Given the description of an element on the screen output the (x, y) to click on. 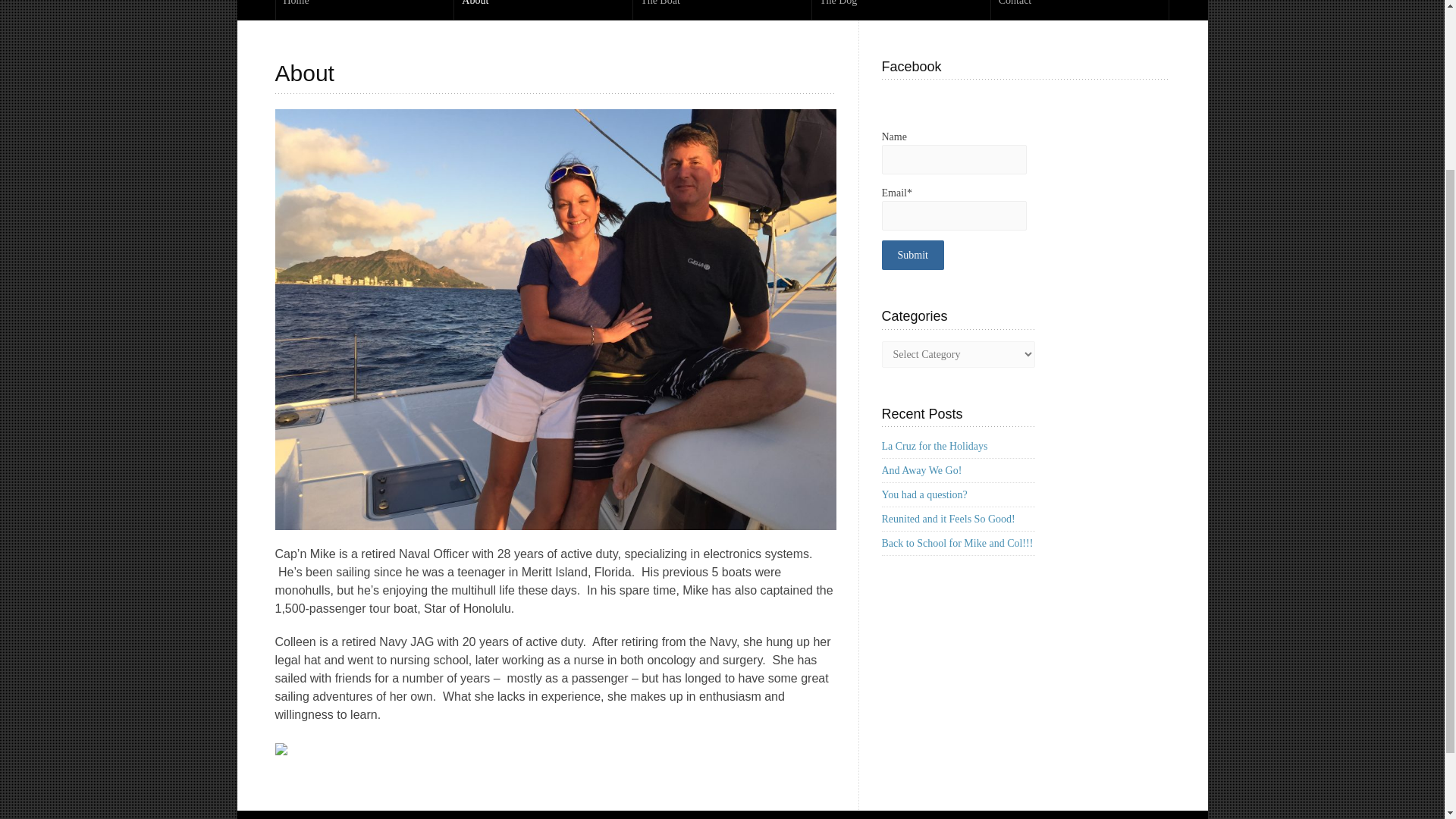
Submit (911, 255)
About (542, 9)
You had a question? (923, 494)
Home (365, 9)
Contact (1080, 9)
The Boat (721, 9)
Submit (911, 255)
The Dog (901, 9)
Back to School for Mike and Col!!! (956, 542)
Reunited and it Feels So Good! (947, 518)
And Away We Go! (920, 470)
La Cruz for the Holidays (933, 446)
